Given the description of an element on the screen output the (x, y) to click on. 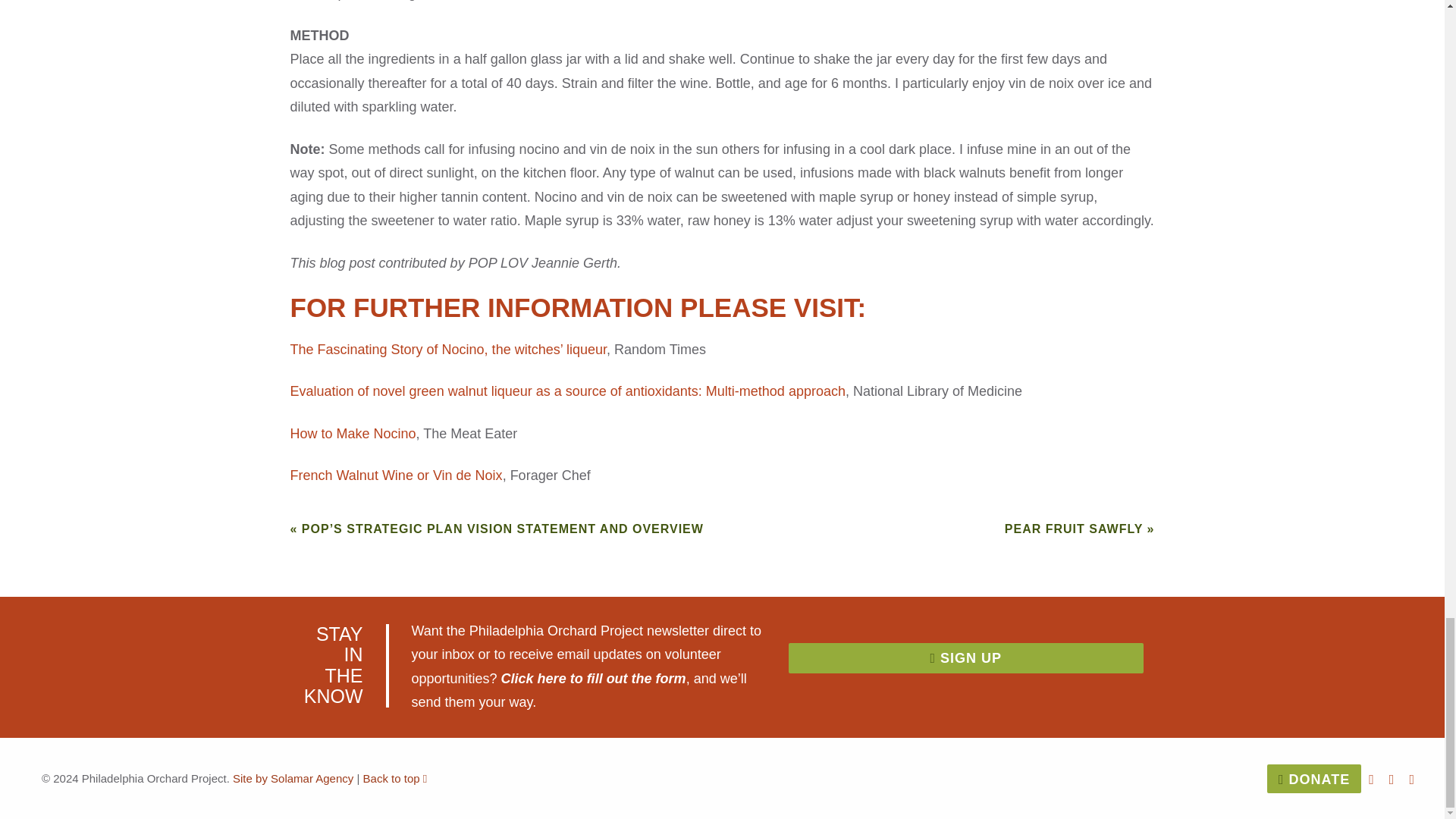
Back to top (395, 778)
Back to top (395, 778)
Site by Solamar Agency (292, 778)
SIGN UP (965, 657)
SIGN UP (965, 671)
How to Make Nocino (351, 433)
DONATE (1313, 778)
POP Instagram (1391, 779)
French Walnut Wine or Vin de Noix (395, 475)
